Given the description of an element on the screen output the (x, y) to click on. 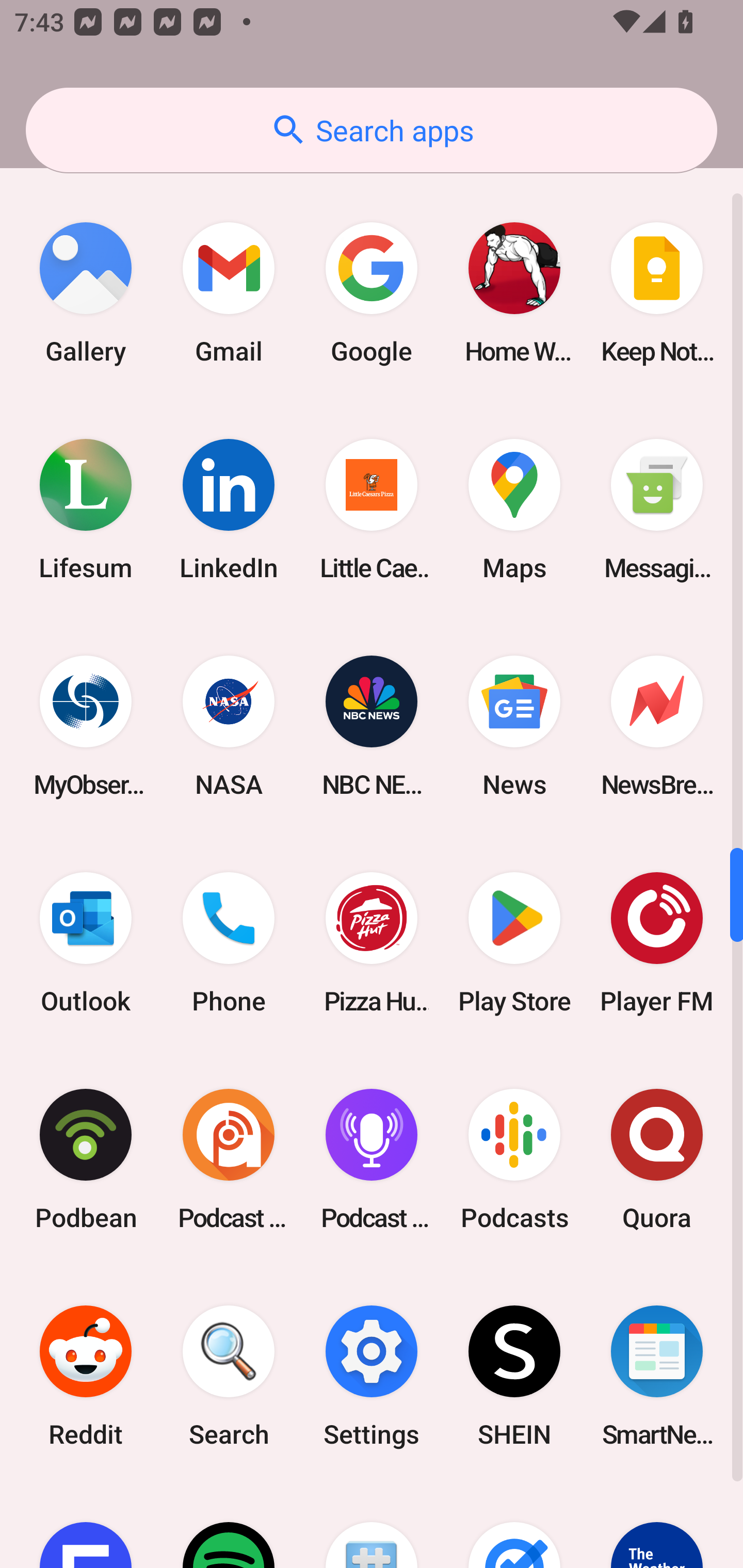
  Search apps (371, 130)
Gallery (85, 293)
Gmail (228, 293)
Google (371, 293)
Home Workout (514, 293)
Keep Notes (656, 293)
Lifesum (85, 509)
LinkedIn (228, 509)
Little Caesars Pizza (371, 509)
Maps (514, 509)
Messaging (656, 509)
MyObservatory (85, 725)
NASA (228, 725)
NBC NEWS (371, 725)
News (514, 725)
NewsBreak (656, 725)
Outlook (85, 942)
Phone (228, 942)
Pizza Hut HK & Macau (371, 942)
Play Store (514, 942)
Player FM (656, 942)
Podbean (85, 1159)
Podcast Addict (228, 1159)
Podcast Player (371, 1159)
Podcasts (514, 1159)
Quora (656, 1159)
Reddit (85, 1376)
Search (228, 1376)
Settings (371, 1376)
SHEIN (514, 1376)
SmartNews (656, 1376)
